Given the description of an element on the screen output the (x, y) to click on. 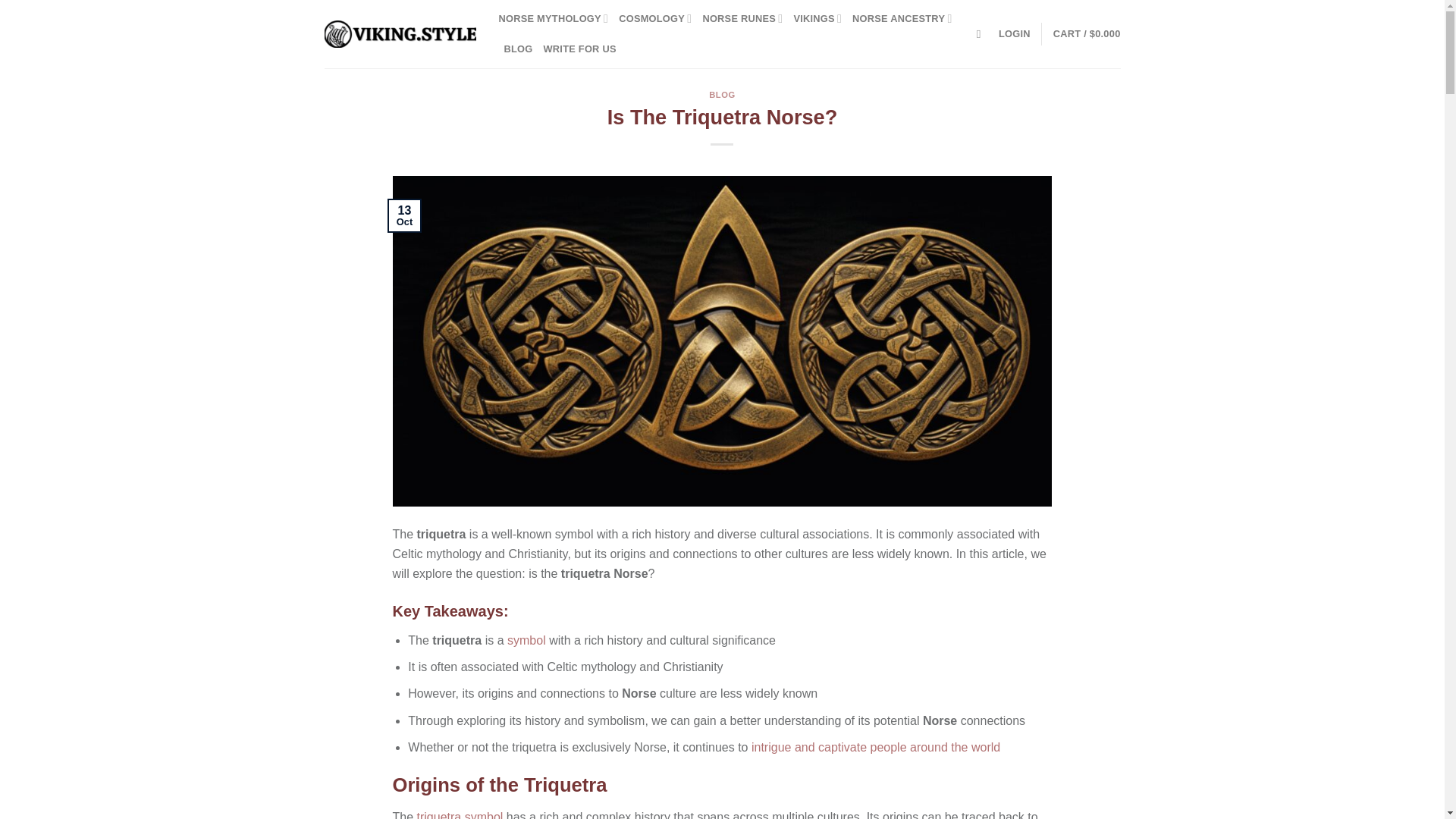
Login (1014, 33)
NORSE MYTHOLOGY (553, 19)
Cart (1086, 33)
Viking Style (400, 34)
